Given the description of an element on the screen output the (x, y) to click on. 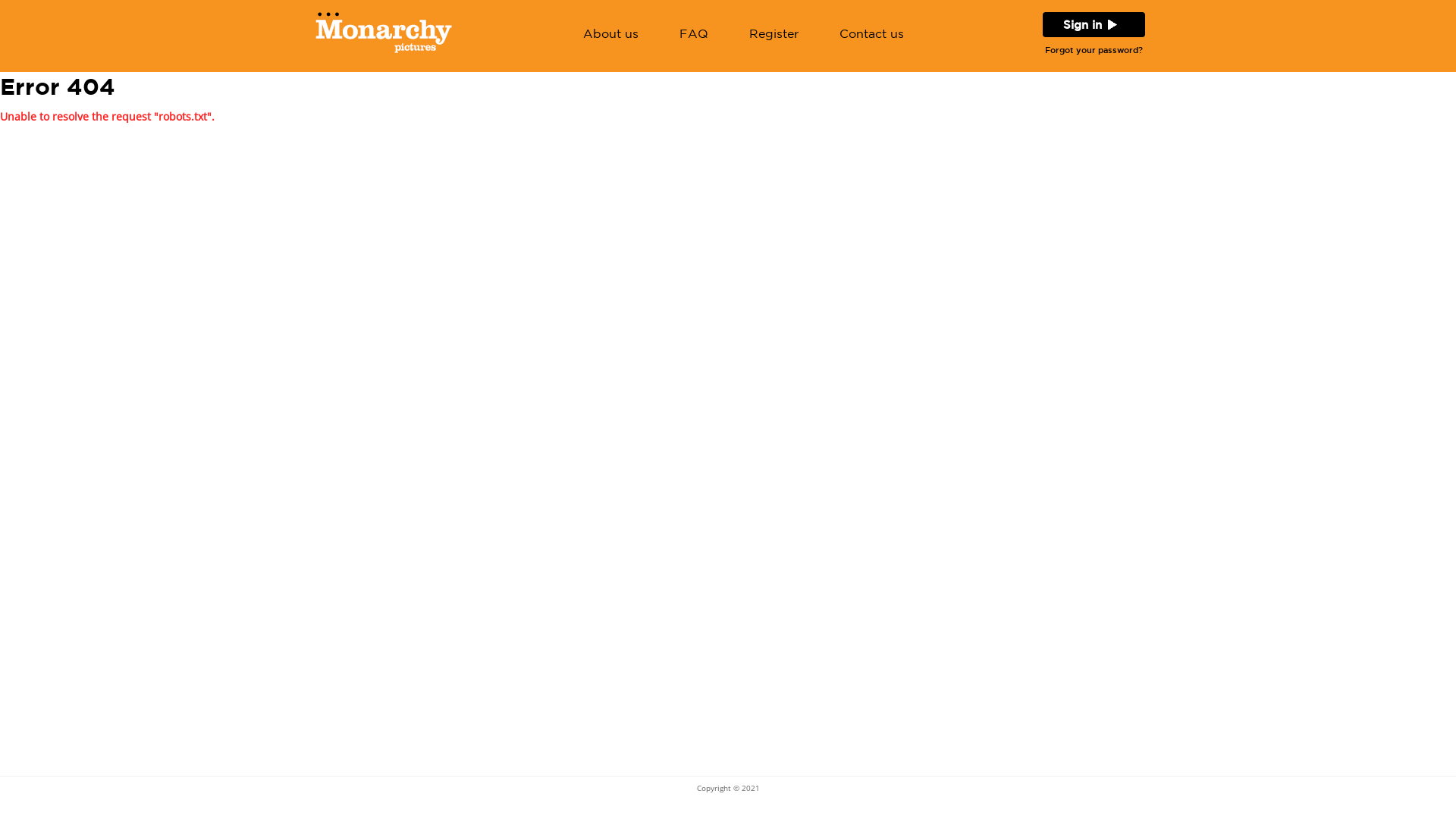
Forgot your password? Element type: text (1093, 49)
Sign in Element type: text (1082, 24)
FAQ Element type: text (693, 34)
Contact us Element type: text (871, 34)
About us Element type: text (610, 34)
Register Element type: text (773, 34)
